Given the description of an element on the screen output the (x, y) to click on. 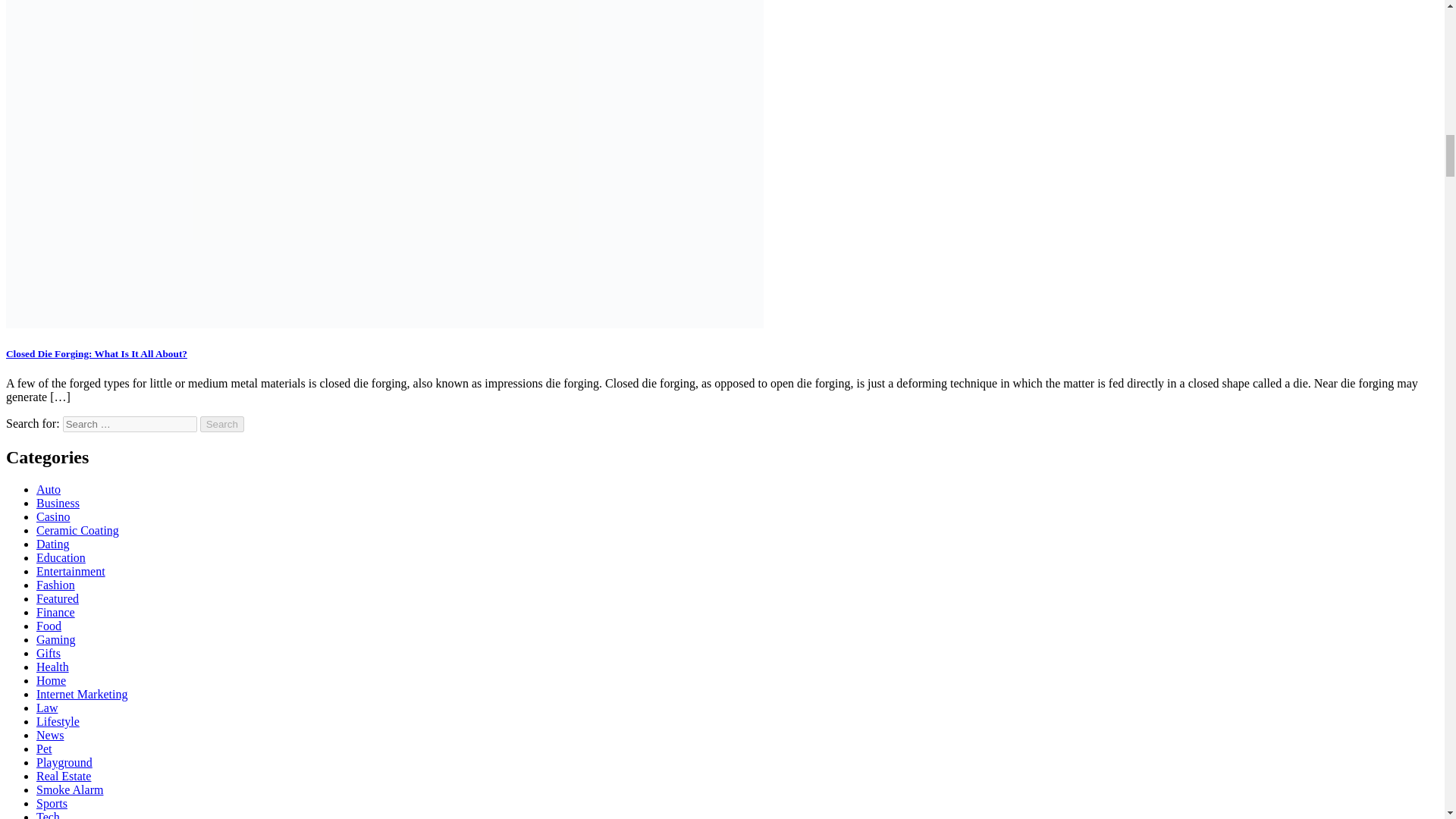
Finance (55, 612)
Search (222, 424)
Entertainment (70, 571)
Ceramic Coating (77, 530)
Fashion (55, 584)
Closed Die Forging: What Is It All About? (96, 353)
Dating (52, 543)
Business (58, 502)
Search (222, 424)
Casino (52, 516)
Search (222, 424)
Featured (57, 598)
Education (60, 557)
Auto (48, 489)
